Given the description of an element on the screen output the (x, y) to click on. 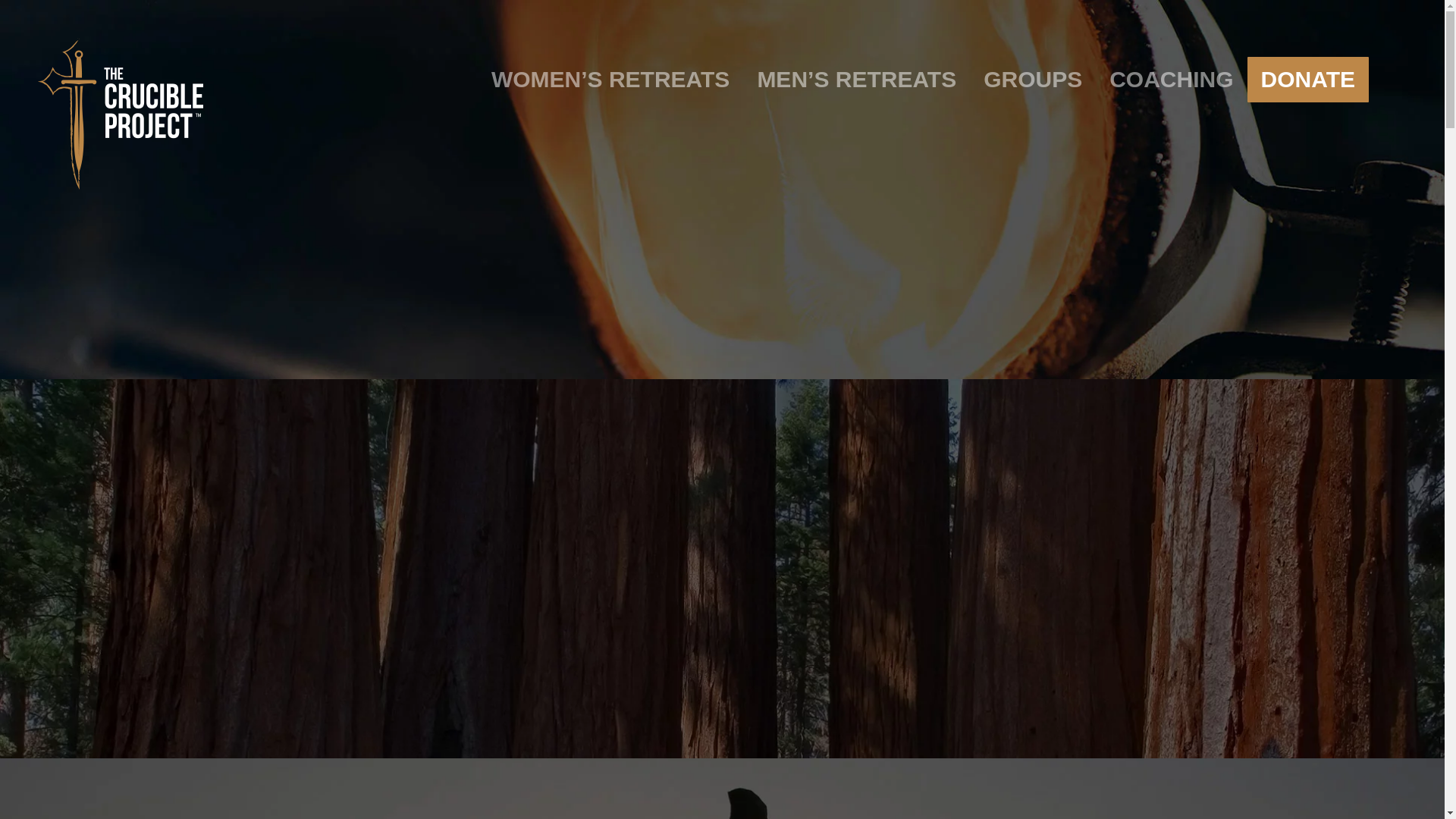
DONATE (1307, 79)
GROUPS (1032, 79)
COACHING (1171, 79)
